Given the description of an element on the screen output the (x, y) to click on. 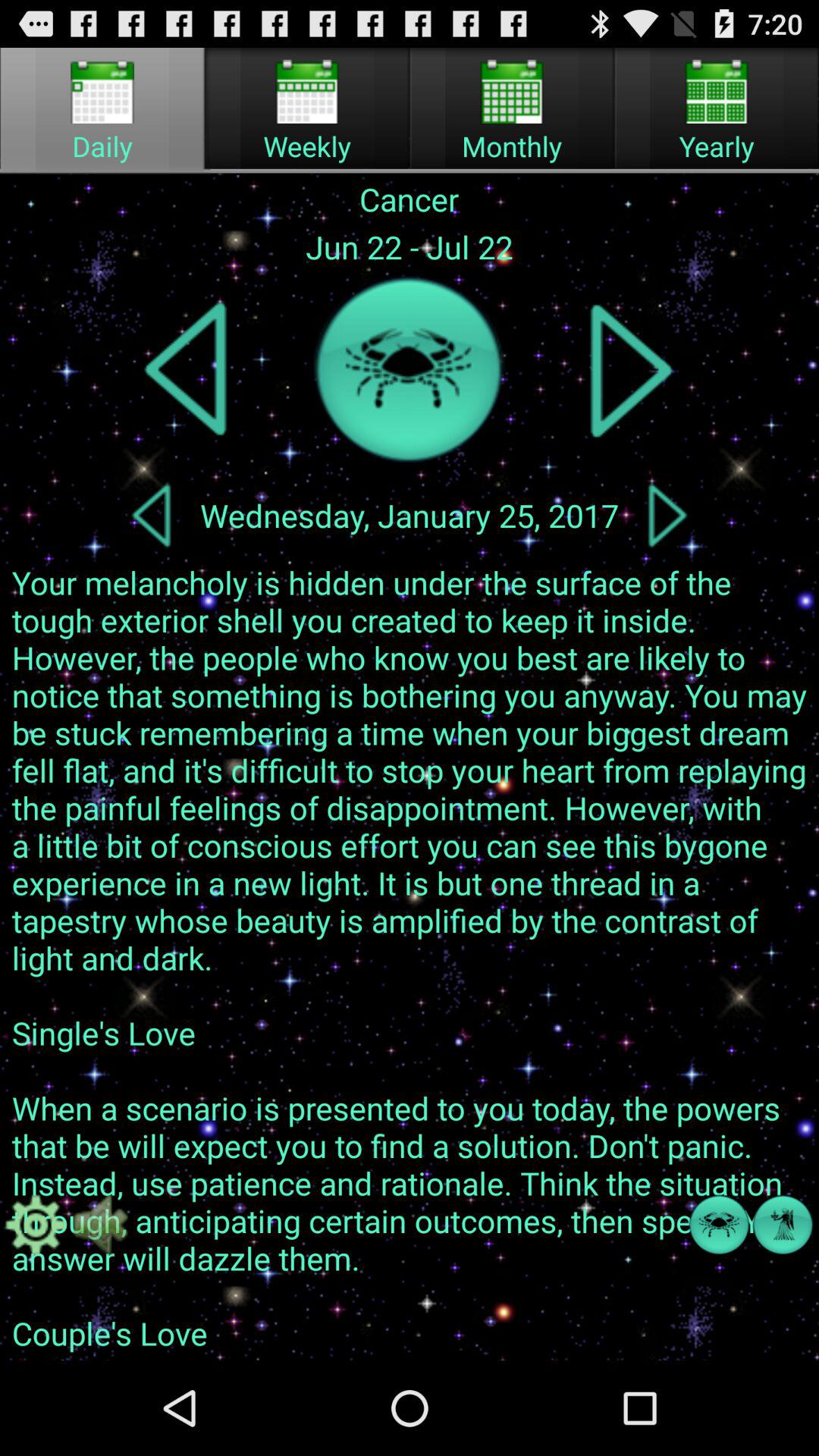
go to previous (187, 369)
